Given the description of an element on the screen output the (x, y) to click on. 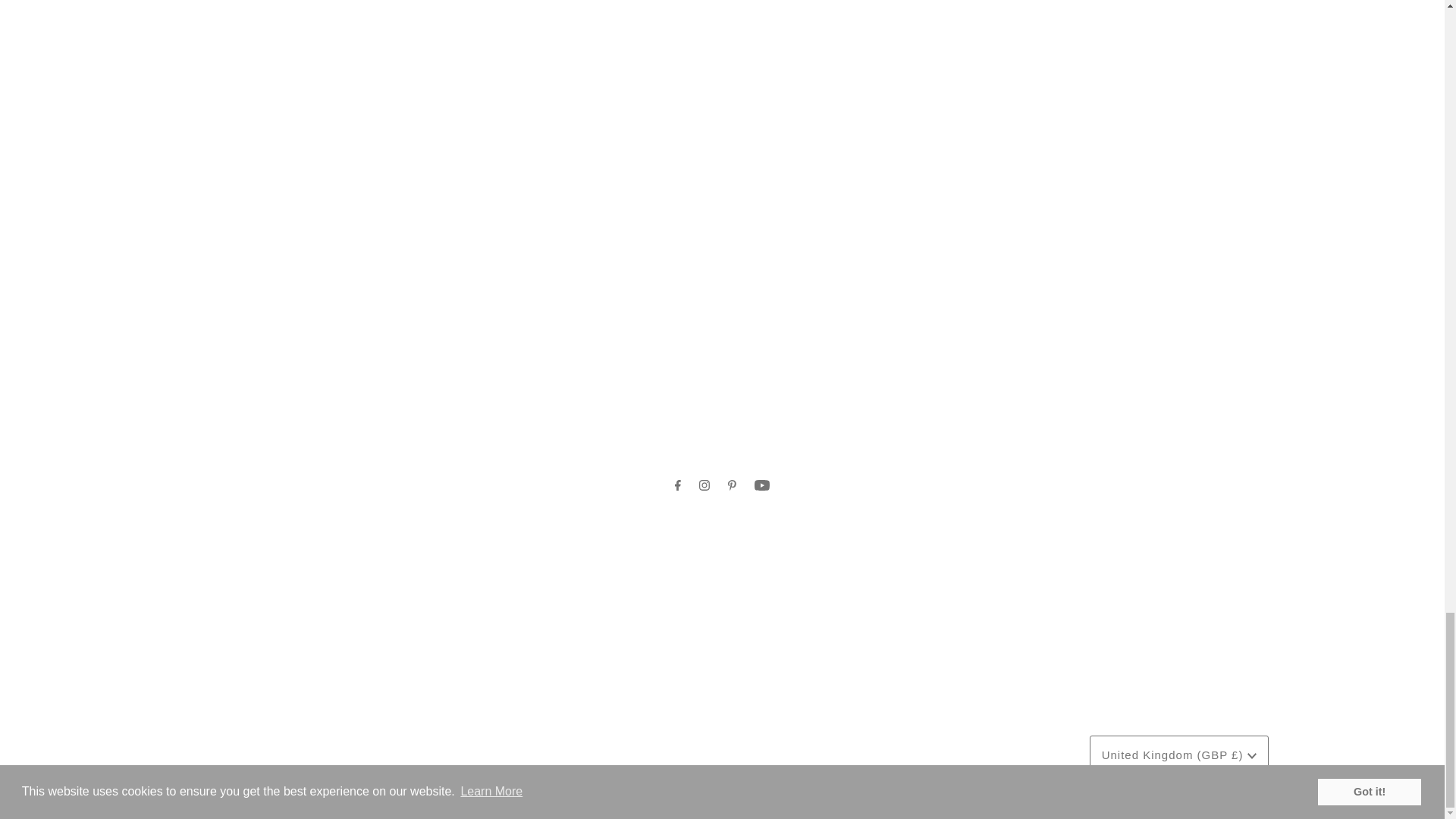
Facebook (678, 484)
Instagram (704, 484)
Youtube (762, 484)
Pinterest (732, 484)
